Given the description of an element on the screen output the (x, y) to click on. 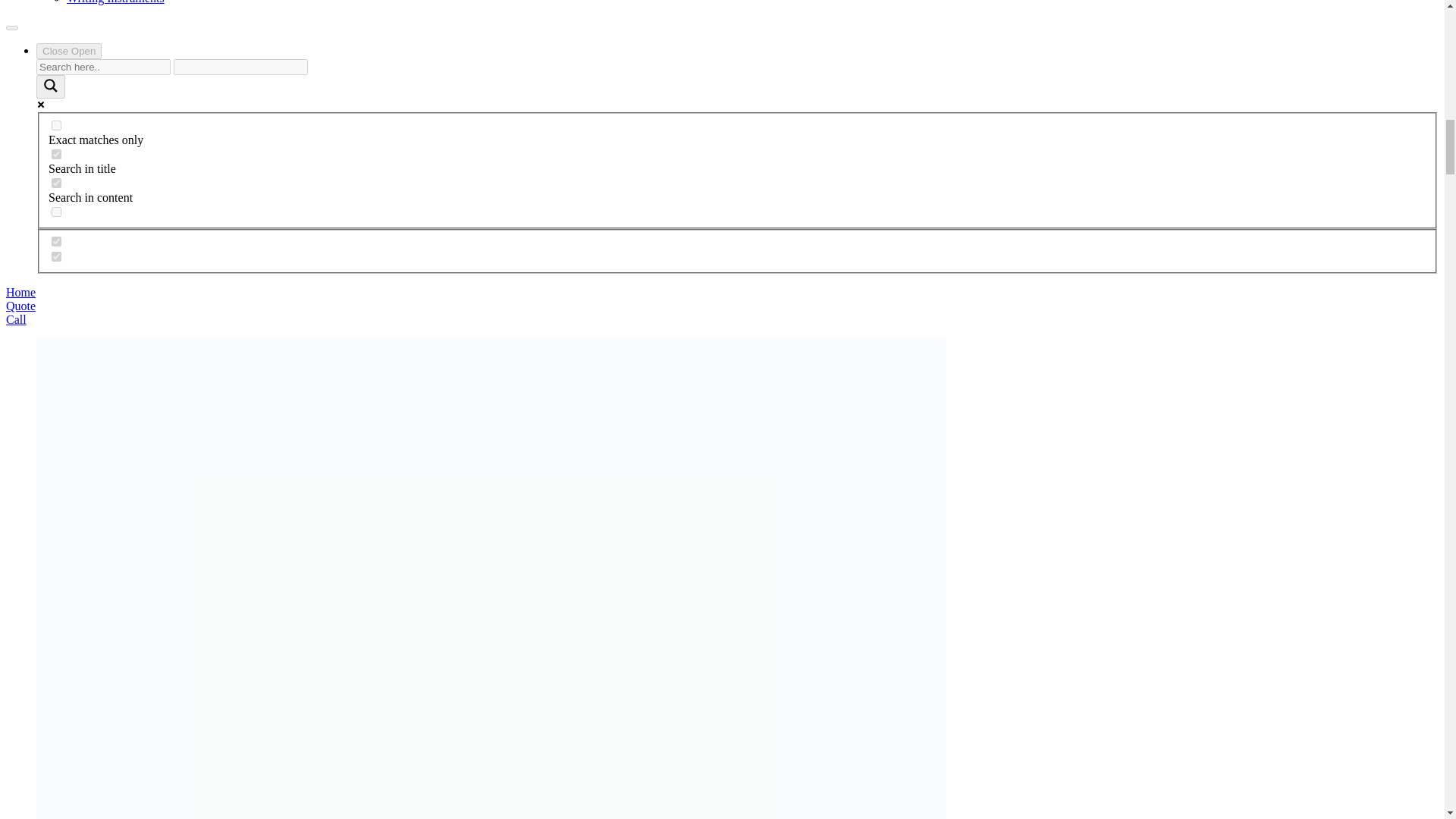
exact (55, 125)
excerpt (55, 212)
listing (55, 241)
content (55, 183)
title (55, 153)
post (55, 256)
